Given the description of an element on the screen output the (x, y) to click on. 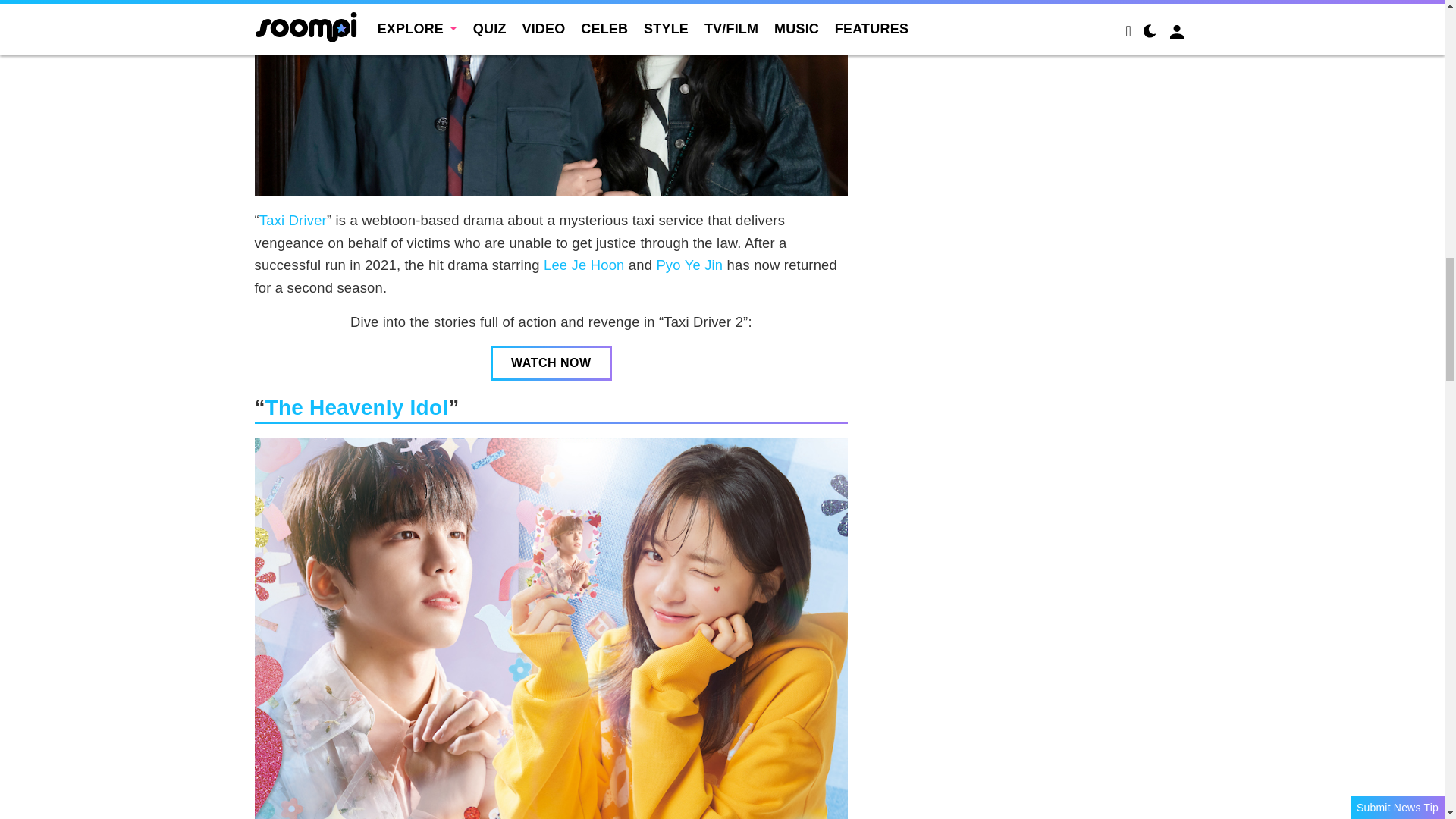
Pyo Ye Jin (689, 264)
The Heavenly Idol (356, 407)
Taxi Driver (292, 220)
Lee Je Hoon (583, 264)
WATCH NOW (550, 362)
